Given the description of an element on the screen output the (x, y) to click on. 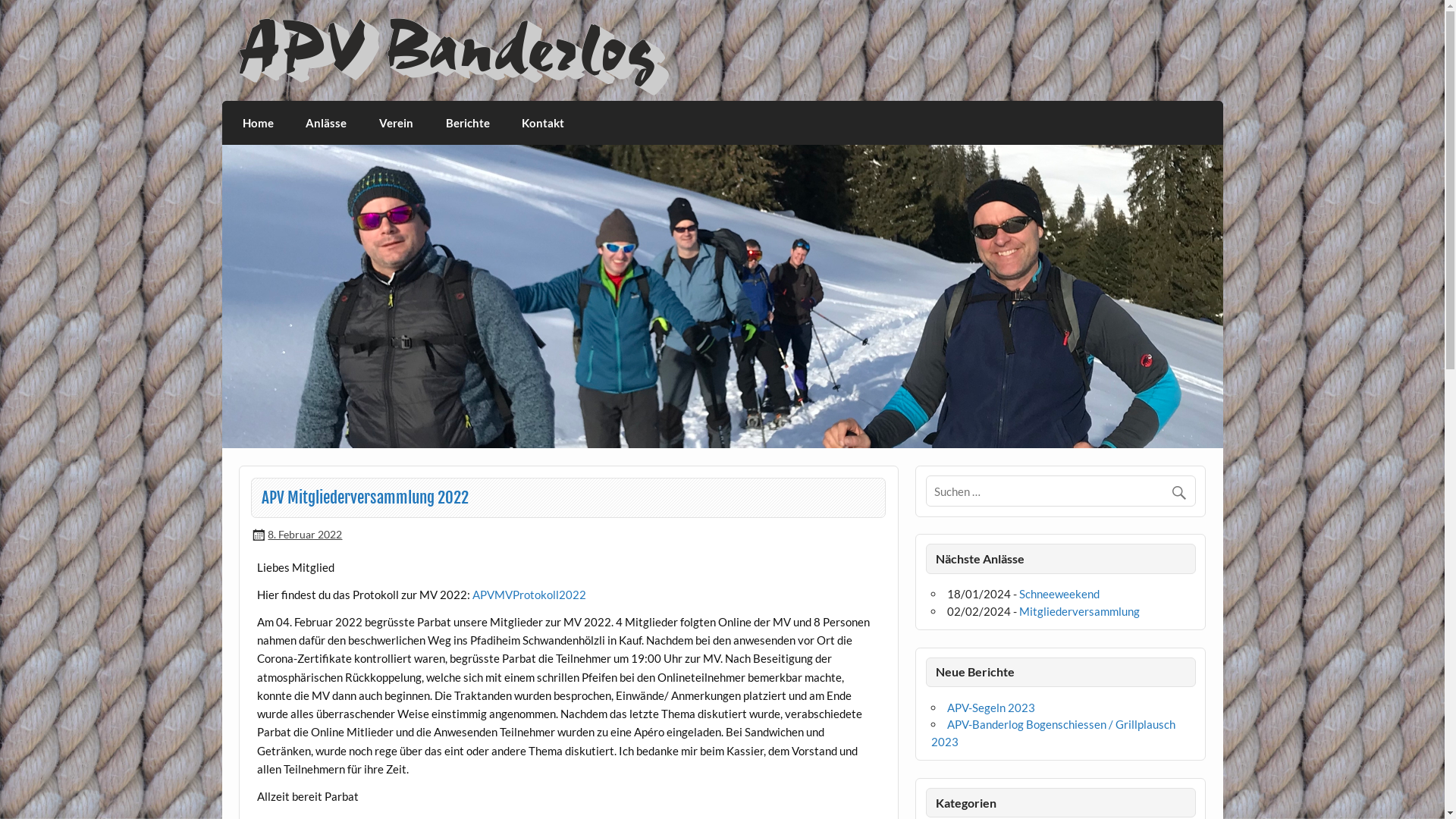
Mitgliederversammlung Element type: text (1079, 611)
APVMVProtokoll2022 Element type: text (529, 594)
Verein Element type: text (396, 122)
APV-Segeln 2023 Element type: text (991, 707)
APV-Banderlog Bogenschiessen / Grillplausch 2023 Element type: text (1053, 732)
Berichte Element type: text (467, 122)
Schneeweekend Element type: text (1059, 593)
Home Element type: text (258, 122)
8. Februar 2022 Element type: text (304, 533)
Kontakt Element type: text (542, 122)
